Given the description of an element on the screen output the (x, y) to click on. 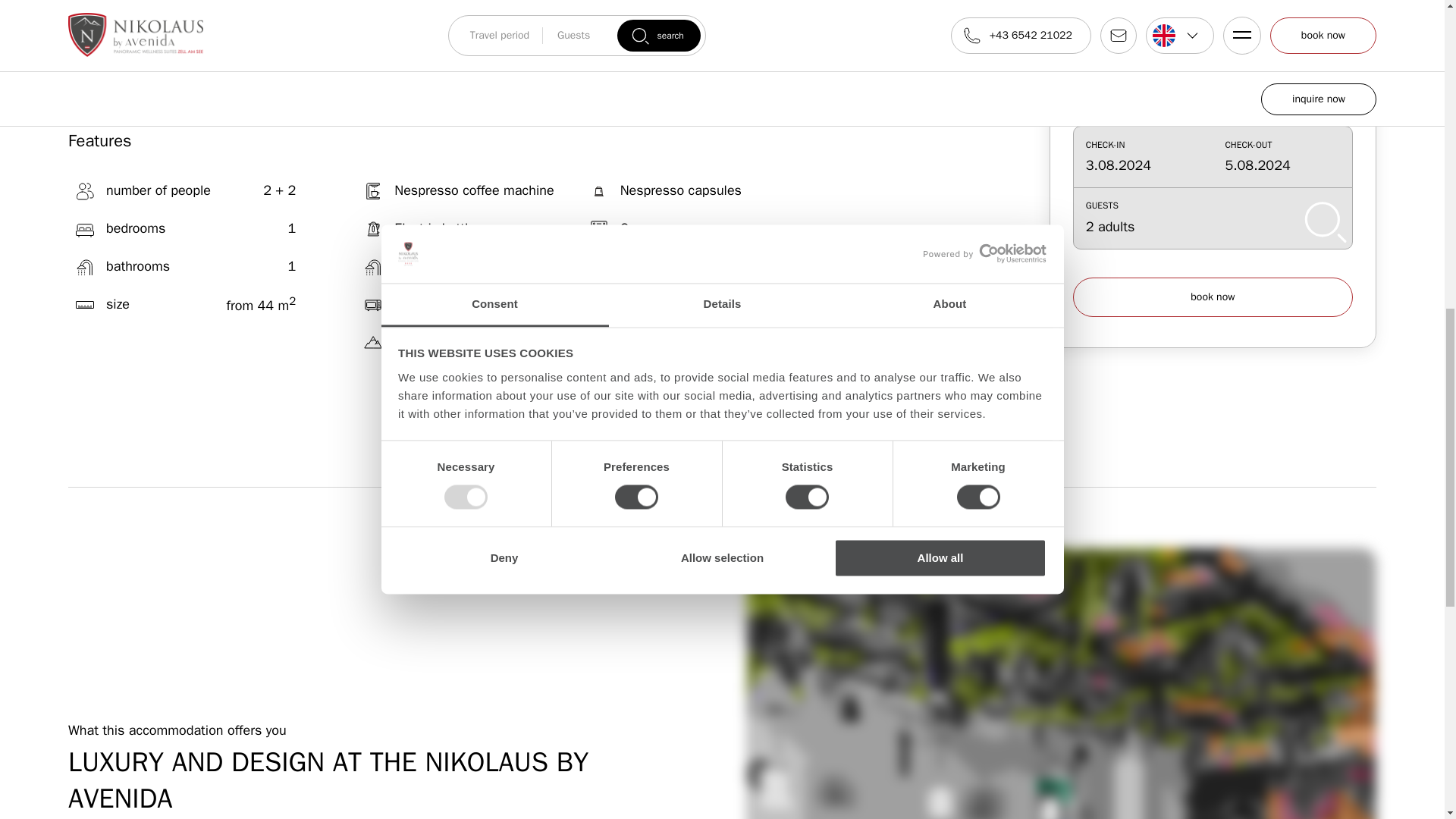
customize search (1212, 38)
